Given the description of an element on the screen output the (x, y) to click on. 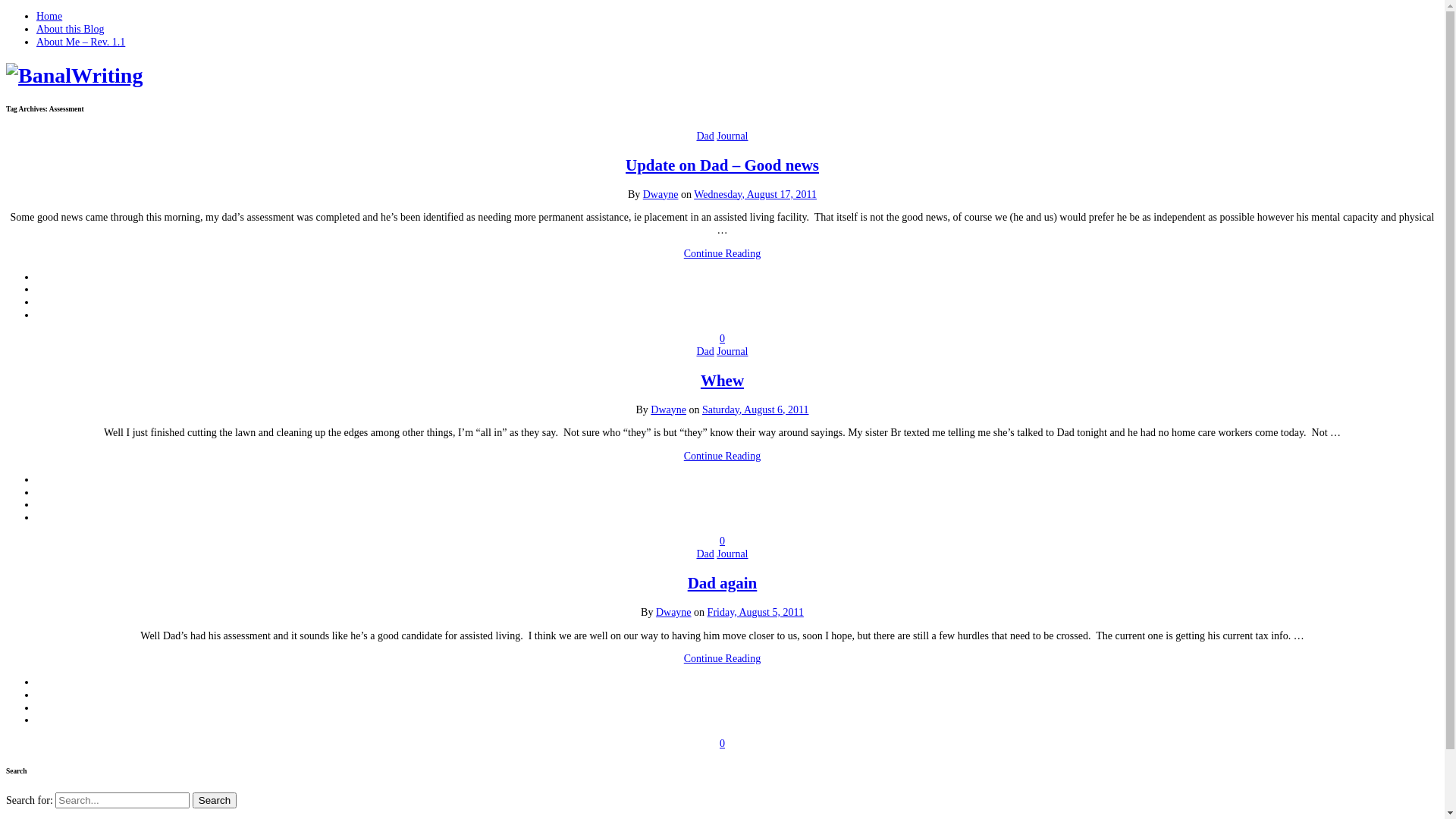
Dwayne Element type: text (660, 193)
0 Element type: text (721, 540)
Wednesday, August 17, 2011 Element type: text (754, 193)
Home Element type: text (49, 15)
Dwayne Element type: text (673, 612)
0 Element type: text (721, 743)
Journal Element type: text (731, 553)
Dad Element type: text (704, 135)
Dad Element type: text (704, 553)
Dwayne Element type: text (668, 408)
Journal Element type: text (731, 351)
Friday, August 5, 2011 Element type: text (755, 612)
Saturday, August 6, 2011 Element type: text (755, 408)
Search Element type: text (214, 800)
Continue Reading Element type: text (722, 455)
Whew Element type: text (721, 380)
Dad again Element type: text (722, 583)
Journal Element type: text (731, 135)
About this Blog Element type: text (69, 28)
Dad Element type: text (704, 351)
Continue Reading Element type: text (722, 658)
0 Element type: text (721, 338)
Continue Reading Element type: text (722, 253)
